Given the description of an element on the screen output the (x, y) to click on. 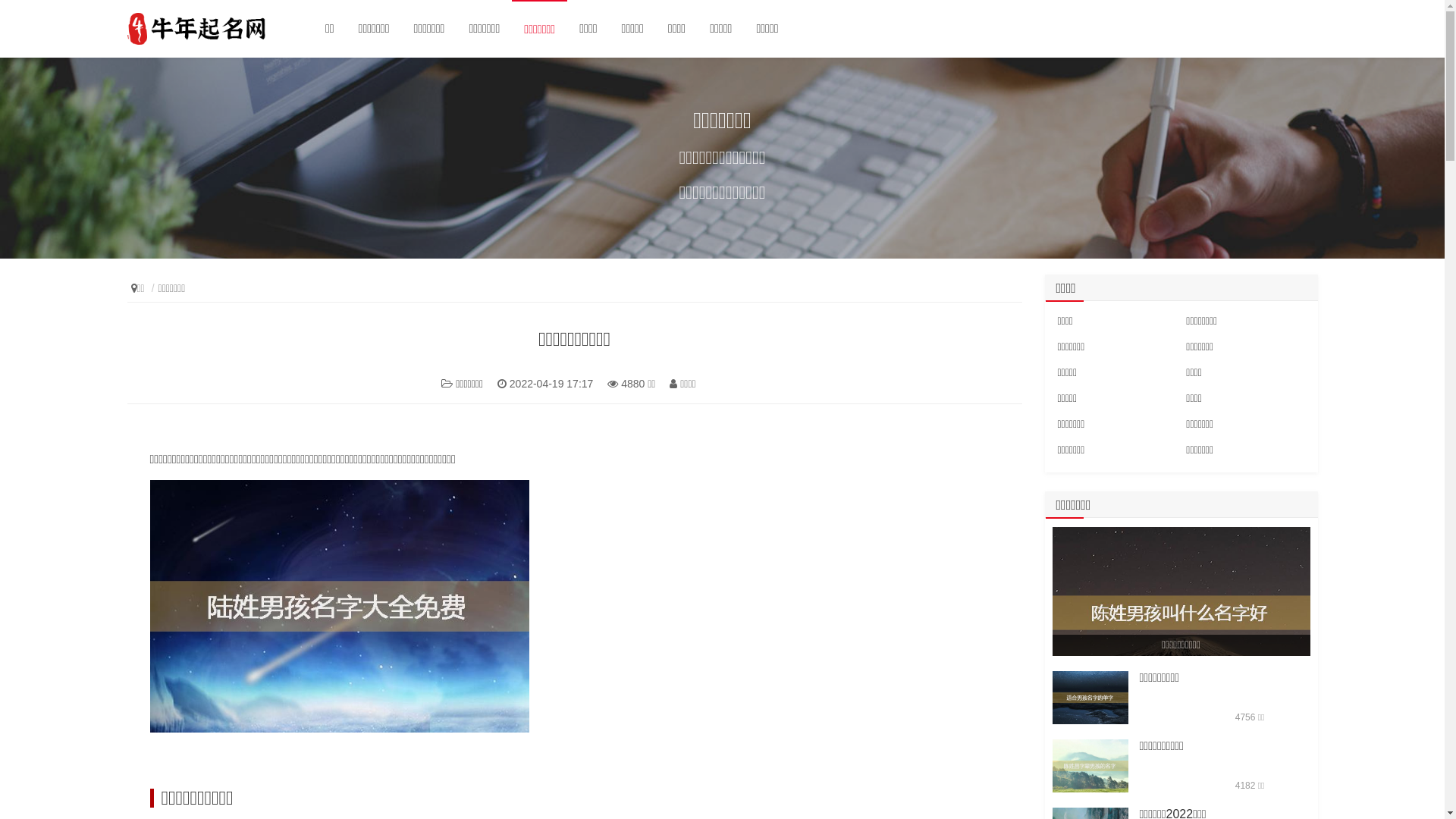
/rundata/article/12sx/220415/10799.jpg Element type: hover (1090, 765)
/rundata/article/12sx/220414/10796.jpg Element type: hover (1090, 697)
